Given the description of an element on the screen output the (x, y) to click on. 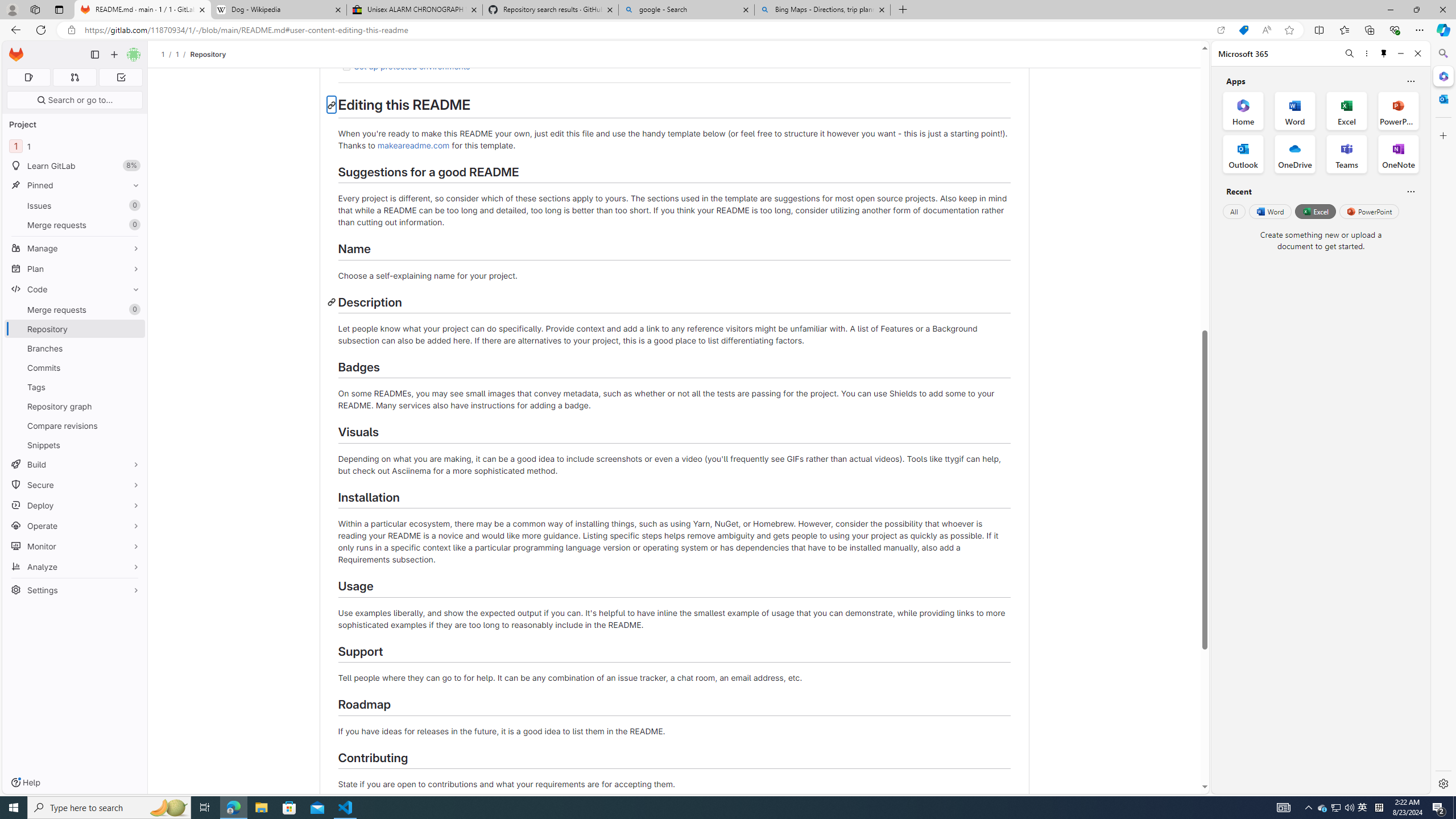
To-Do list 0 (120, 76)
Merge requests0 (74, 309)
Pin Repository (132, 328)
Deploy (74, 505)
Snippets (74, 444)
Snippets (74, 444)
Homepage (16, 54)
Create new... (113, 54)
Class: task-list-item-checkbox (346, 67)
1 (177, 53)
Manage (74, 248)
